Given the description of an element on the screen output the (x, y) to click on. 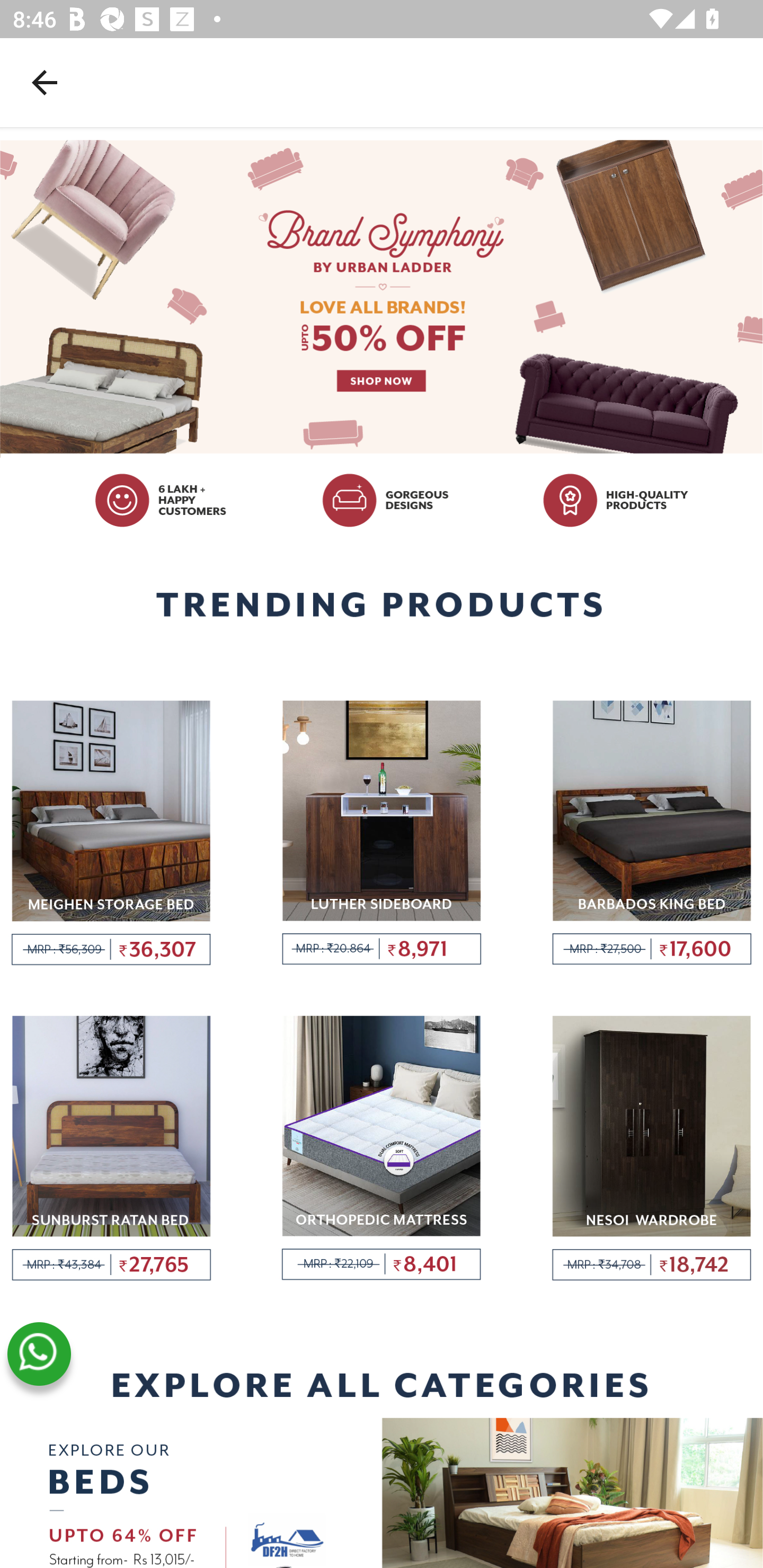
Navigate up (44, 82)
VMI_trending_products-1 (111, 833)
VMI_trending_prodcucts-2 (381, 833)
VMI_trending_prodcucts-3 (651, 833)
VMI_trending_prodcut-4 (111, 1149)
VMI_trending_prodcucts-6 (651, 1149)
whatsapp (38, 1353)
VMI_Explore_brands_Beds (381, 1491)
